Given the description of an element on the screen output the (x, y) to click on. 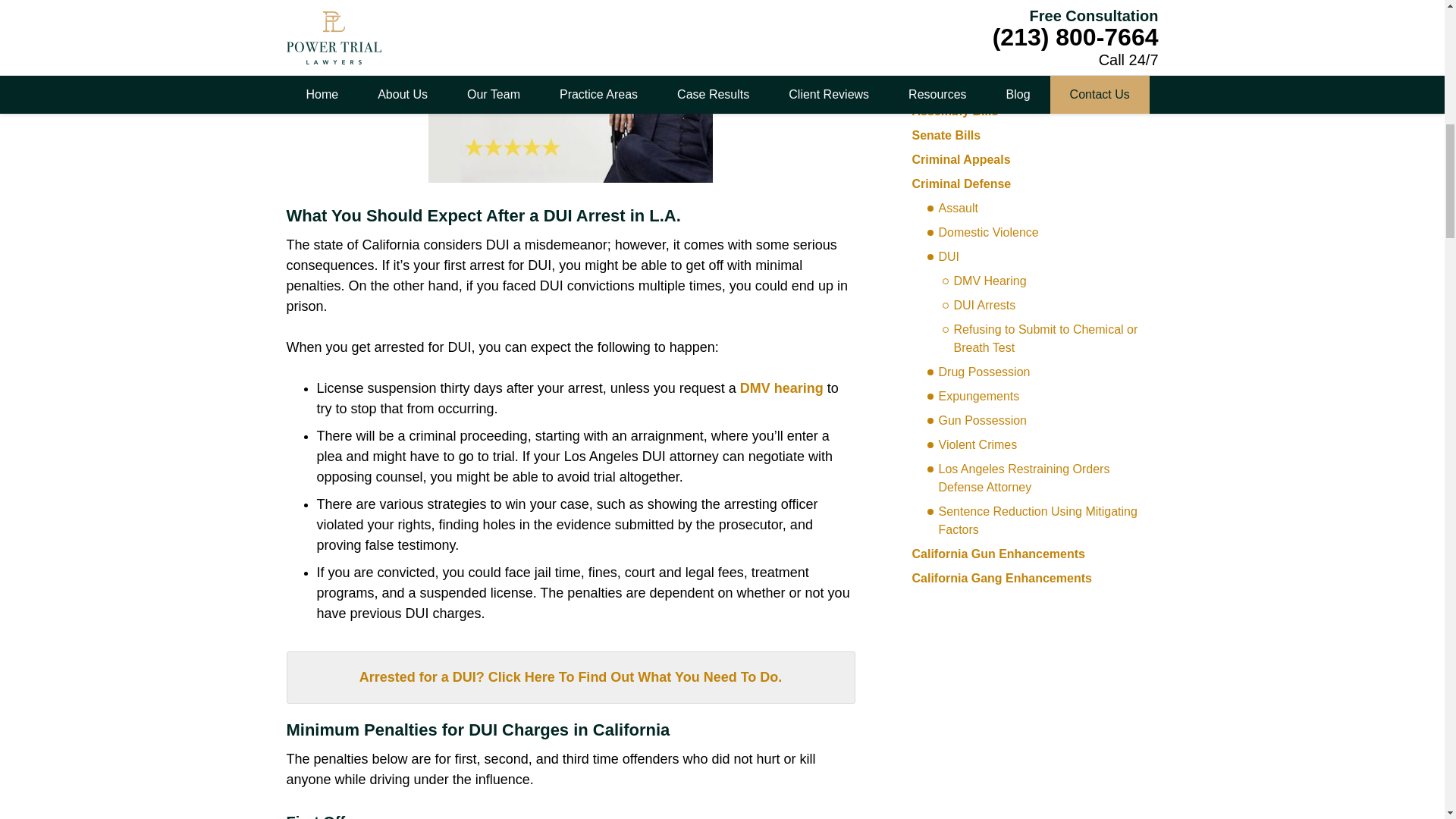
DMV hearing (783, 387)
